Given the description of an element on the screen output the (x, y) to click on. 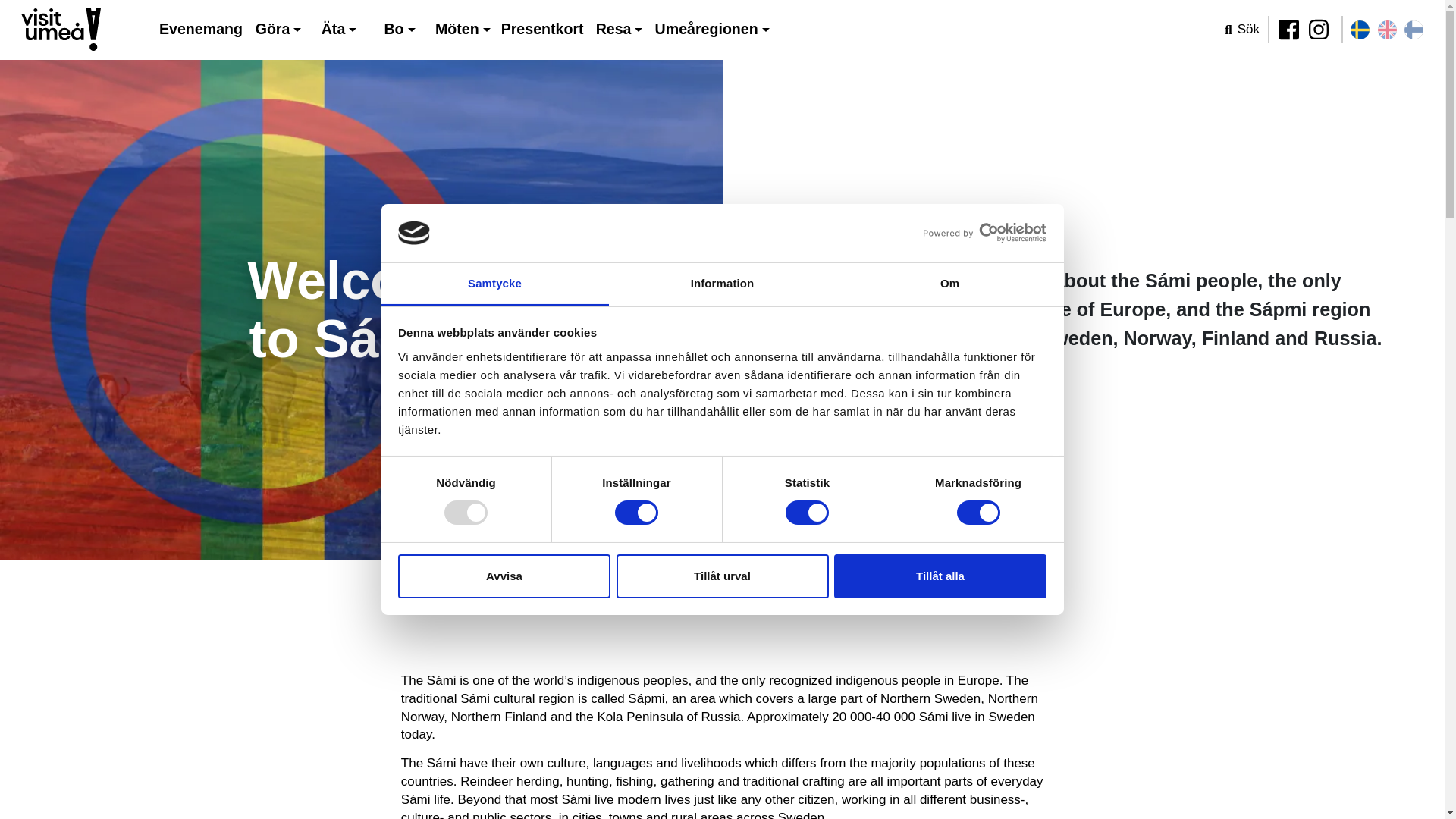
Hem (60, 29)
Presentkort (542, 29)
Samtycke (494, 284)
Om (948, 284)
Avvisa (503, 576)
Information (721, 284)
